Given the description of an element on the screen output the (x, y) to click on. 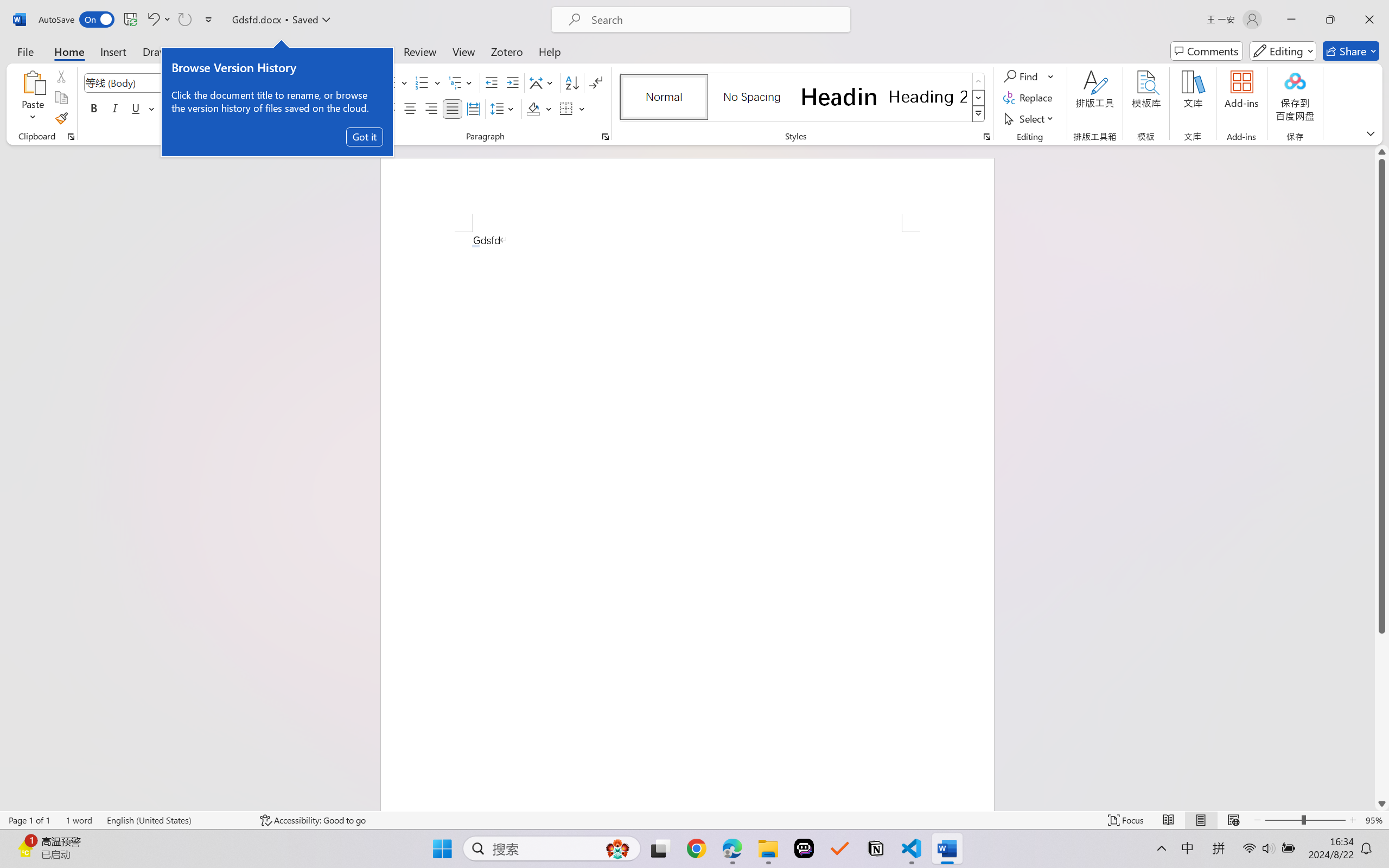
Align Right (431, 108)
Styles (978, 113)
Shading RGB(0, 0, 0) (533, 108)
Character Shading (334, 108)
Microsoft search (715, 19)
Phonetic Guide... (334, 82)
Subscript (190, 108)
Character Border (356, 82)
Multilevel List (461, 82)
Decrease Indent (491, 82)
